Given the description of an element on the screen output the (x, y) to click on. 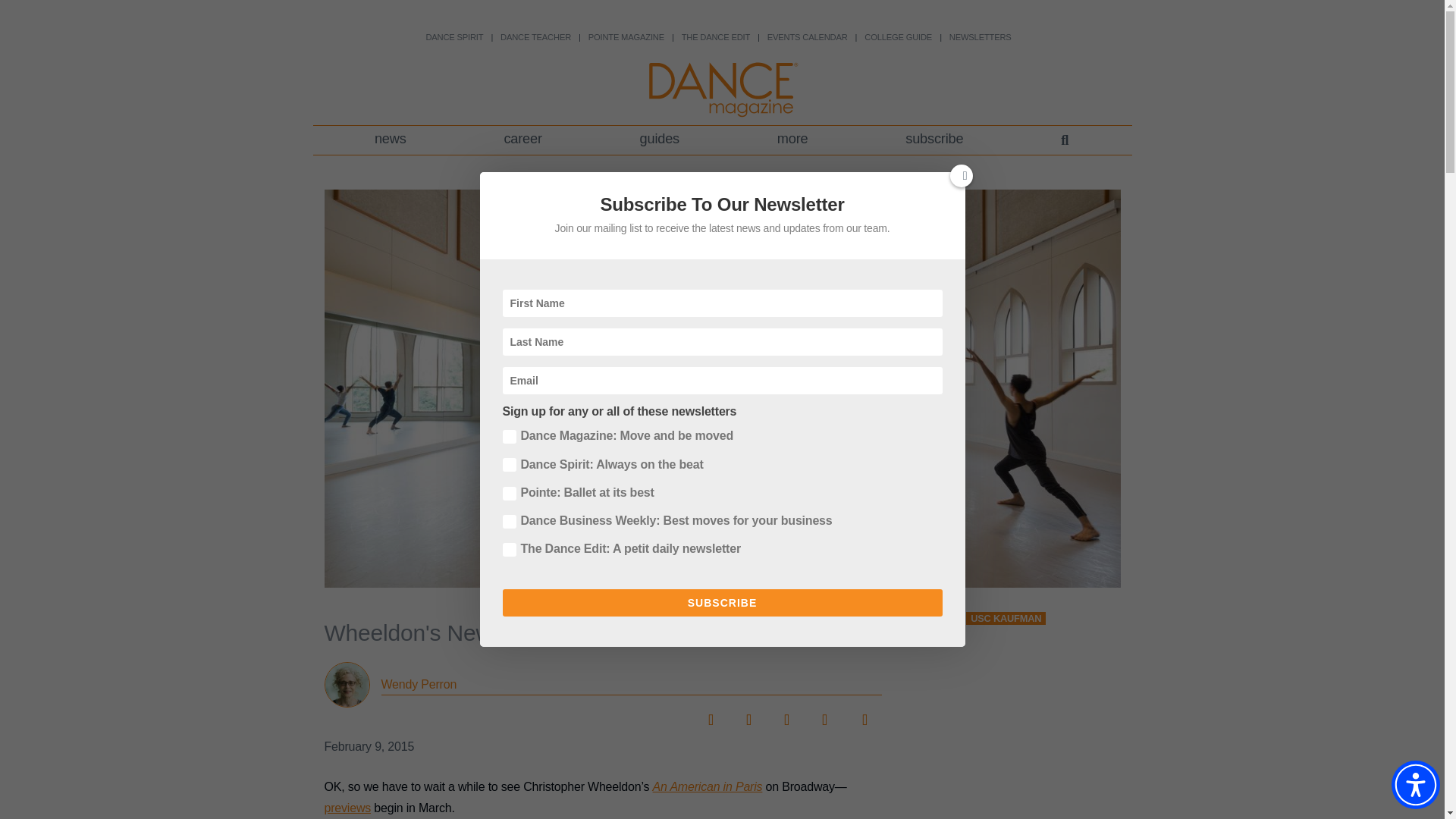
more (791, 140)
Accessibility Menu (1415, 784)
Share on Twitter (748, 714)
news (390, 140)
Share on Pinterest (824, 714)
DANCE SPIRIT (454, 36)
Share by Email (861, 714)
subscribe (934, 140)
COLLEGE GUIDE (897, 36)
EVENTS CALENDAR (807, 36)
NEWSLETTERS (980, 36)
THE DANCE EDIT (715, 36)
guides (658, 140)
Share on Facebook (710, 714)
